Given the description of an element on the screen output the (x, y) to click on. 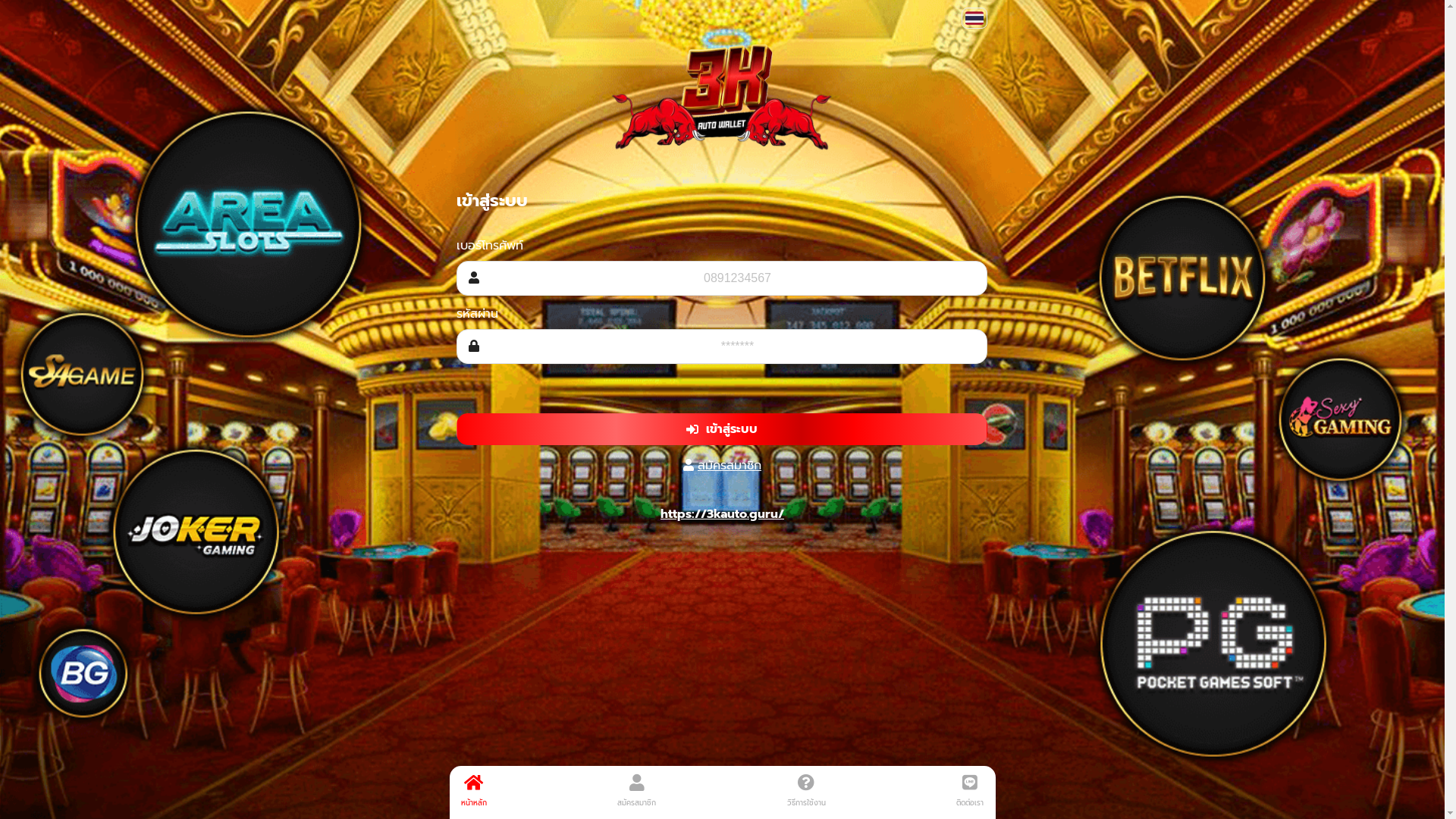
https://3kauto.guru/ Element type: text (722, 514)
